Given the description of an element on the screen output the (x, y) to click on. 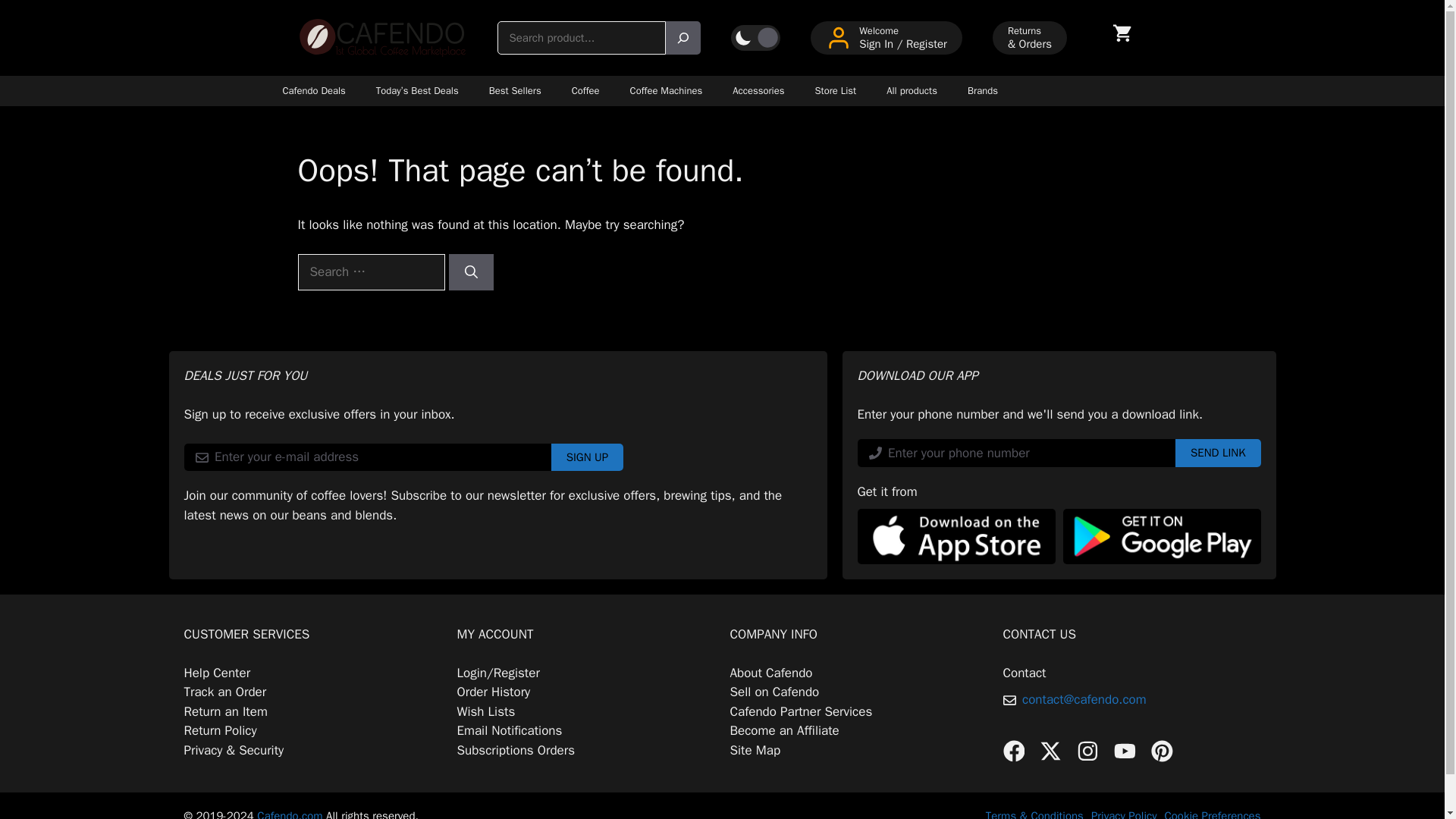
Best Sellers (515, 91)
Cookie Preferences (1211, 814)
Coffee Machines (665, 91)
Coffee (585, 91)
Cafendo.com (289, 814)
Store List (834, 91)
All products (911, 91)
Accessories (758, 91)
Privacy Policy (1123, 814)
Cafendo Deals (312, 91)
